Given the description of an element on the screen output the (x, y) to click on. 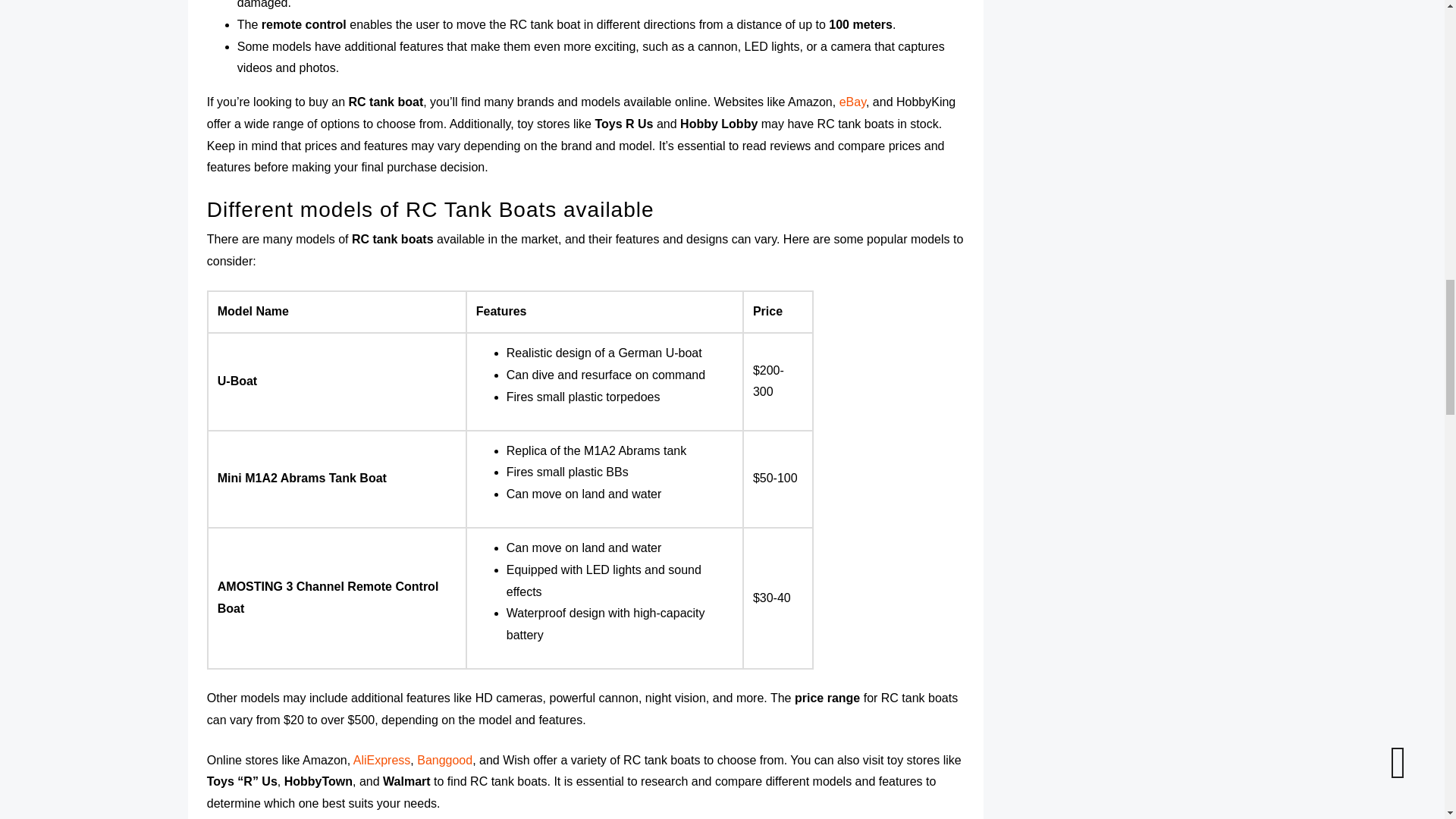
eBay (853, 101)
AliExpress (381, 759)
Banggood (443, 759)
